Given the description of an element on the screen output the (x, y) to click on. 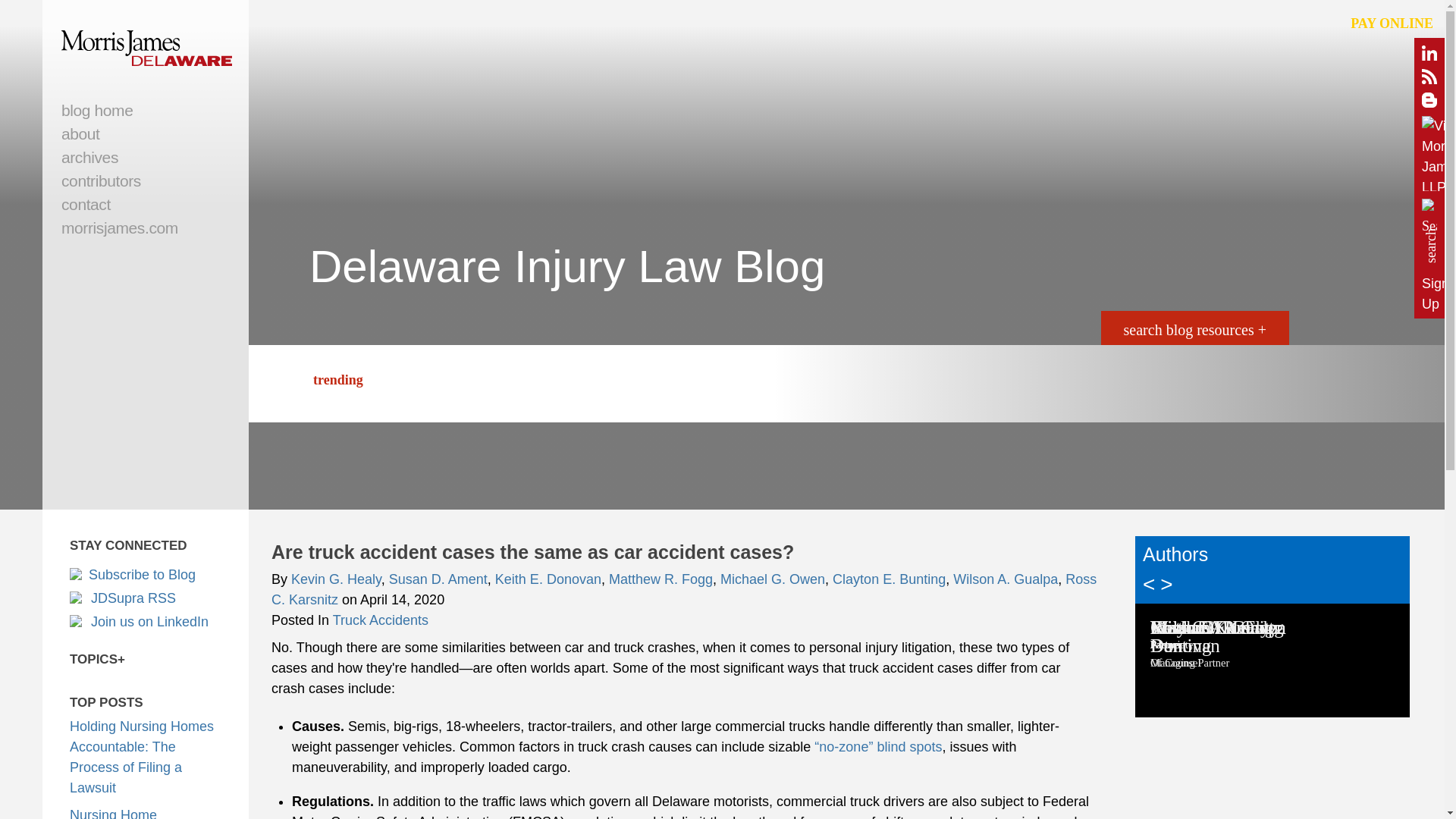
JDSupra RSS (145, 598)
RSS (1429, 79)
Join us on LinkedIn (145, 621)
JDSupra (145, 598)
Subscribe to Blog (145, 575)
LinkedIn (1429, 55)
LinkedIn (145, 621)
PAY ONLINE (1391, 23)
Blog (1429, 102)
Subscribe to Blog (145, 575)
